Given the description of an element on the screen output the (x, y) to click on. 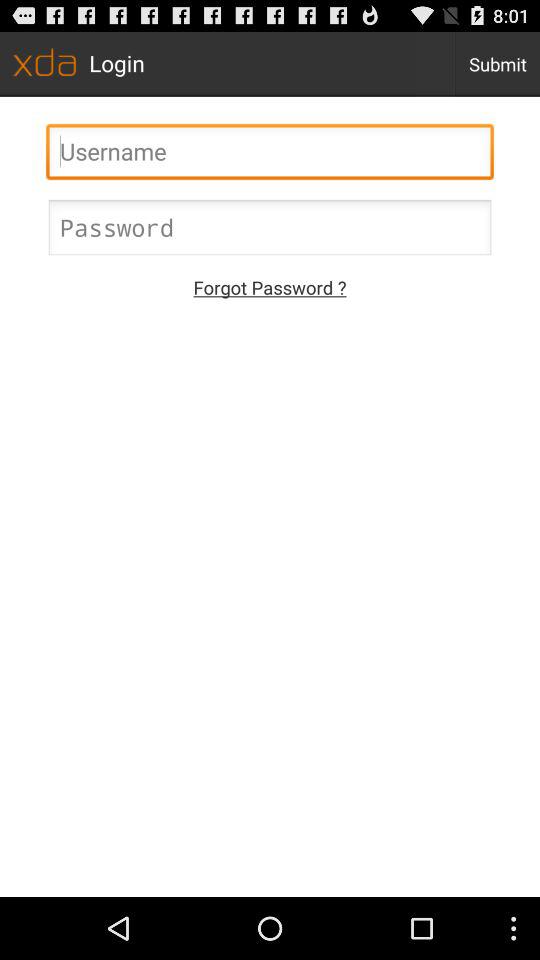
scroll until submit icon (498, 63)
